Given the description of an element on the screen output the (x, y) to click on. 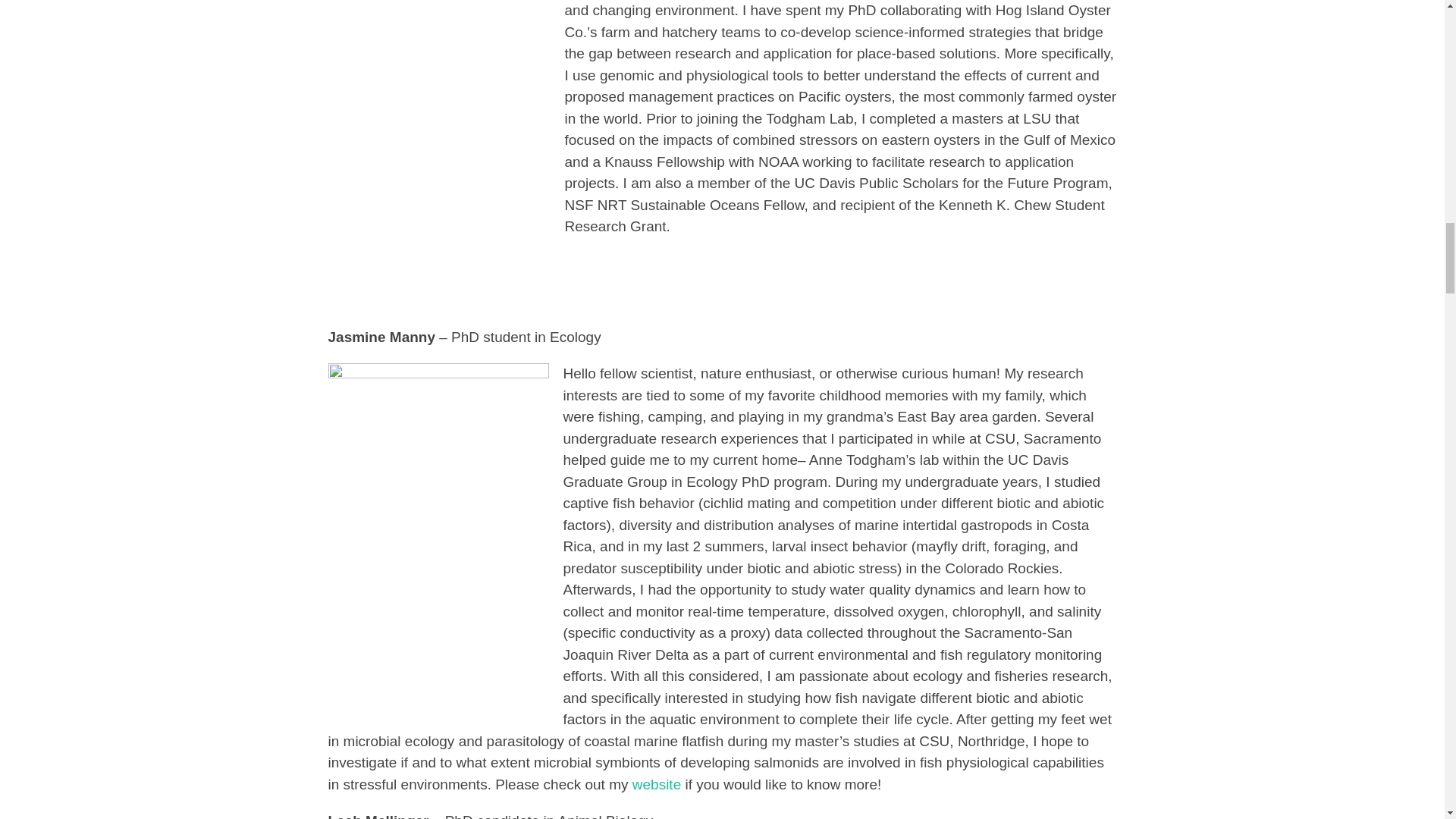
website (656, 784)
